Given the description of an element on the screen output the (x, y) to click on. 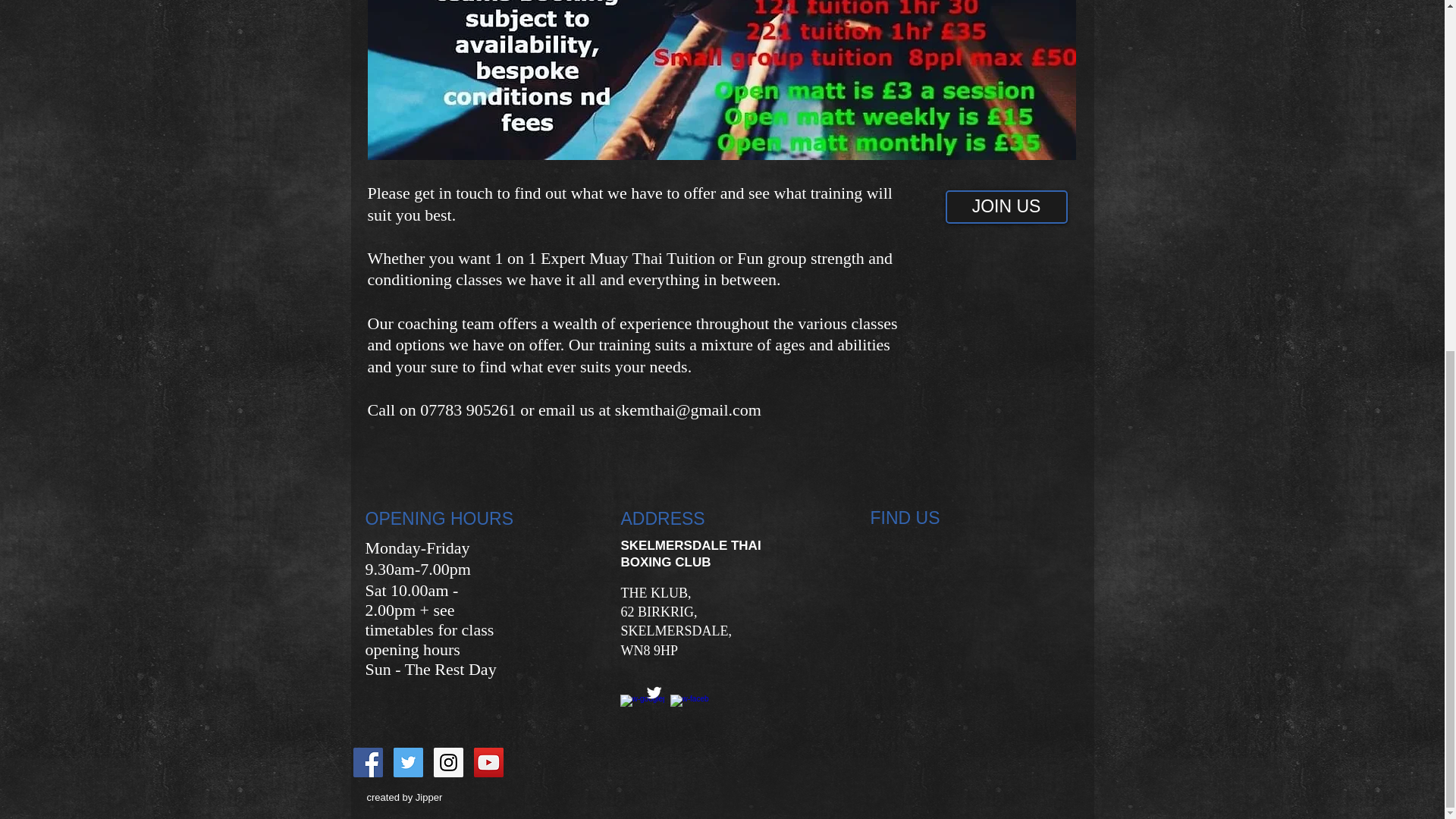
JOIN US (1005, 206)
IMG-1269.JPG (720, 79)
Google Maps (973, 589)
